Given the description of an element on the screen output the (x, y) to click on. 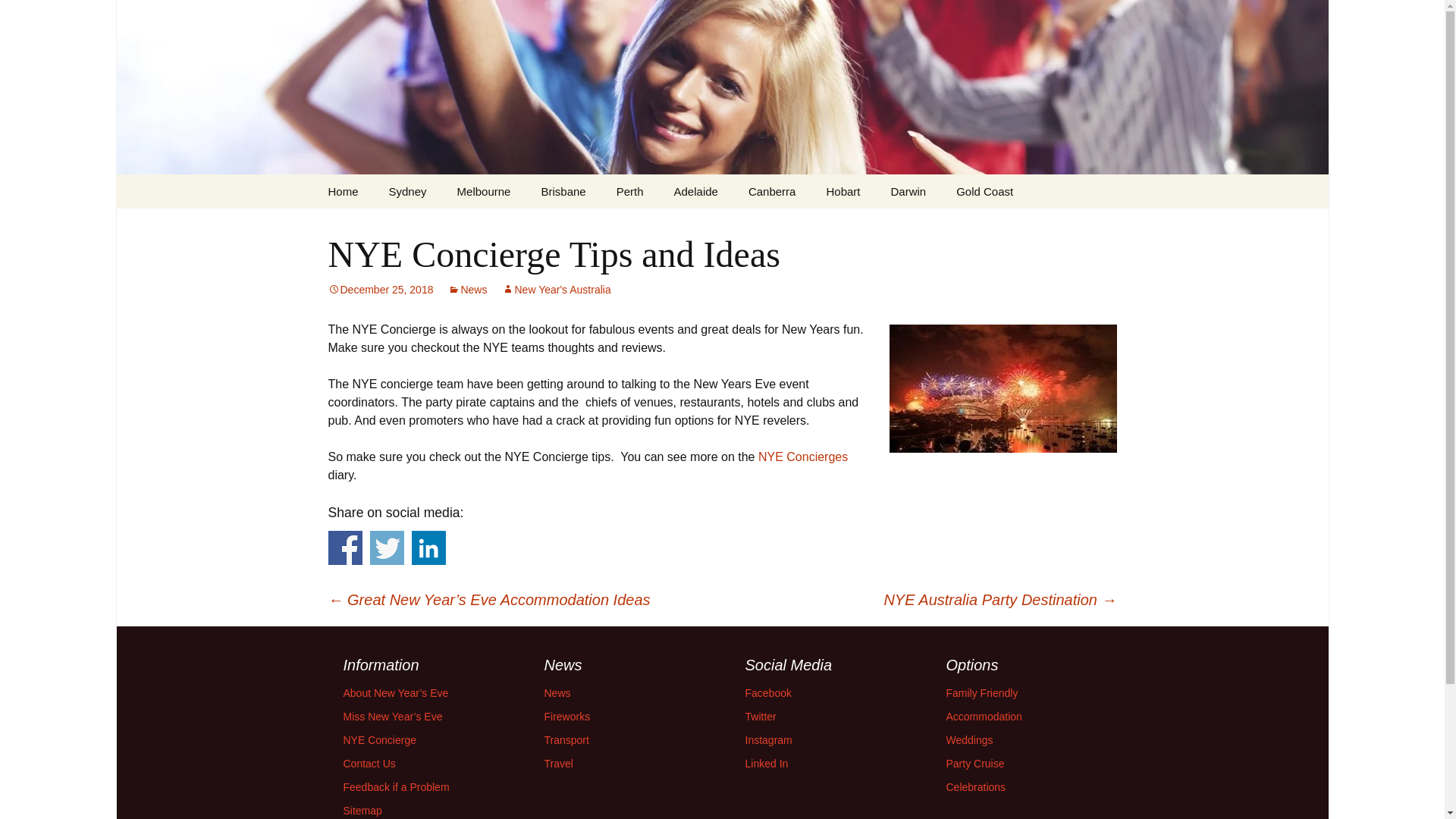
Contact Us (368, 763)
Facebook (767, 693)
Share on Linkedin (428, 547)
Feedback if a Problem (395, 787)
Hobart (842, 191)
Fireworks (567, 716)
Brisbane (562, 191)
Family Friendly (981, 693)
Home (342, 191)
Gold Coast (983, 191)
Sydney (408, 191)
Sitemap (361, 810)
